Given the description of an element on the screen output the (x, y) to click on. 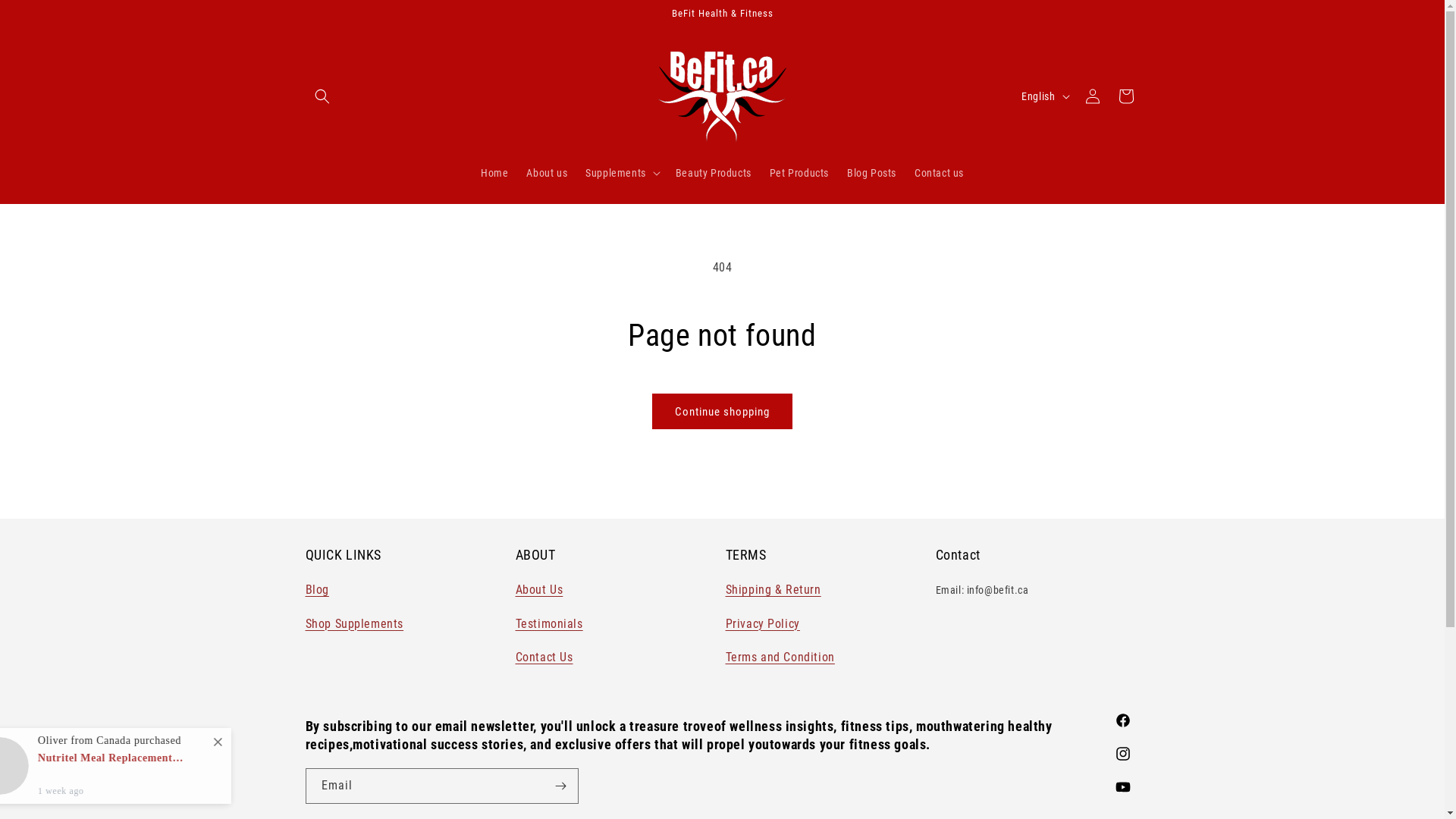
Continue shopping Element type: text (722, 411)
Contact Us Element type: text (544, 656)
Home Element type: text (494, 172)
Instagram Element type: text (1122, 753)
Blog Element type: text (316, 589)
Contact us Element type: text (938, 172)
Terms and Condition Element type: text (779, 656)
About us Element type: text (546, 172)
About Us Element type: text (539, 589)
YouTube Element type: text (1122, 786)
Testimonials Element type: text (549, 623)
Log in Element type: text (1091, 95)
Privacy Policy Element type: text (761, 623)
Cart Element type: text (1125, 95)
Shipping & Return Element type: text (772, 589)
Facebook Element type: text (1122, 720)
Shop Supplements Element type: text (353, 623)
Blog Posts Element type: text (871, 172)
Email: info@befit.ca Element type: text (982, 591)
English Element type: text (1043, 95)
Pet Products Element type: text (798, 172)
Beauty Products Element type: text (713, 172)
